Given the description of an element on the screen output the (x, y) to click on. 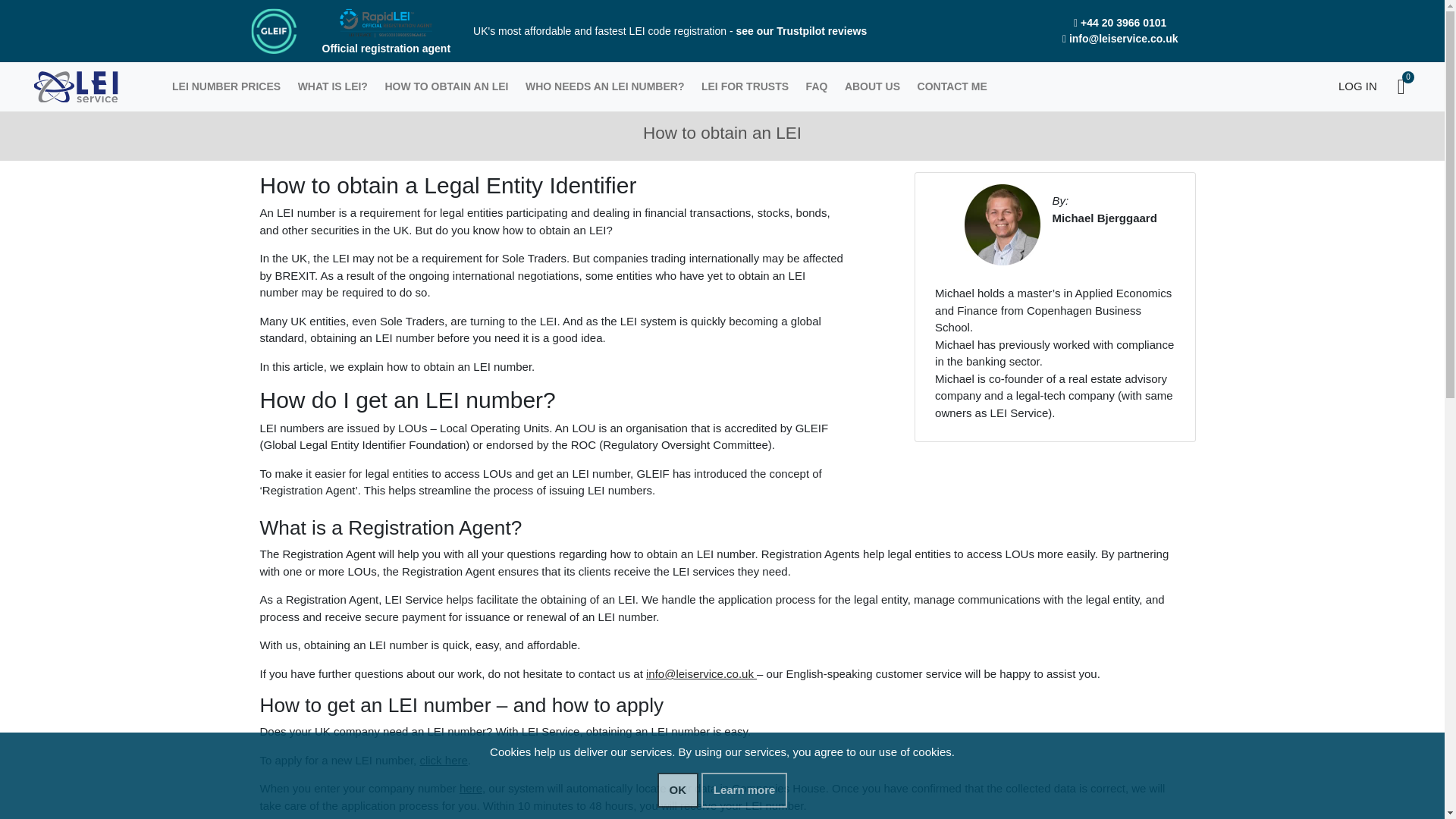
LEI NUMBER PRICES (226, 86)
here (470, 788)
see our Trustpilot reviews (800, 30)
ABOUT US (871, 86)
Official registration agent (385, 35)
LOG IN (1351, 86)
WHO NEEDS AN LEI NUMBER? (604, 86)
CONTACT ME (951, 86)
click here (443, 759)
LEI FOR TRUSTS (744, 86)
Logo (75, 85)
FAQ (815, 86)
HOW TO OBTAIN AN LEI (445, 86)
WHAT IS LEI? (332, 86)
